Given the description of an element on the screen output the (x, y) to click on. 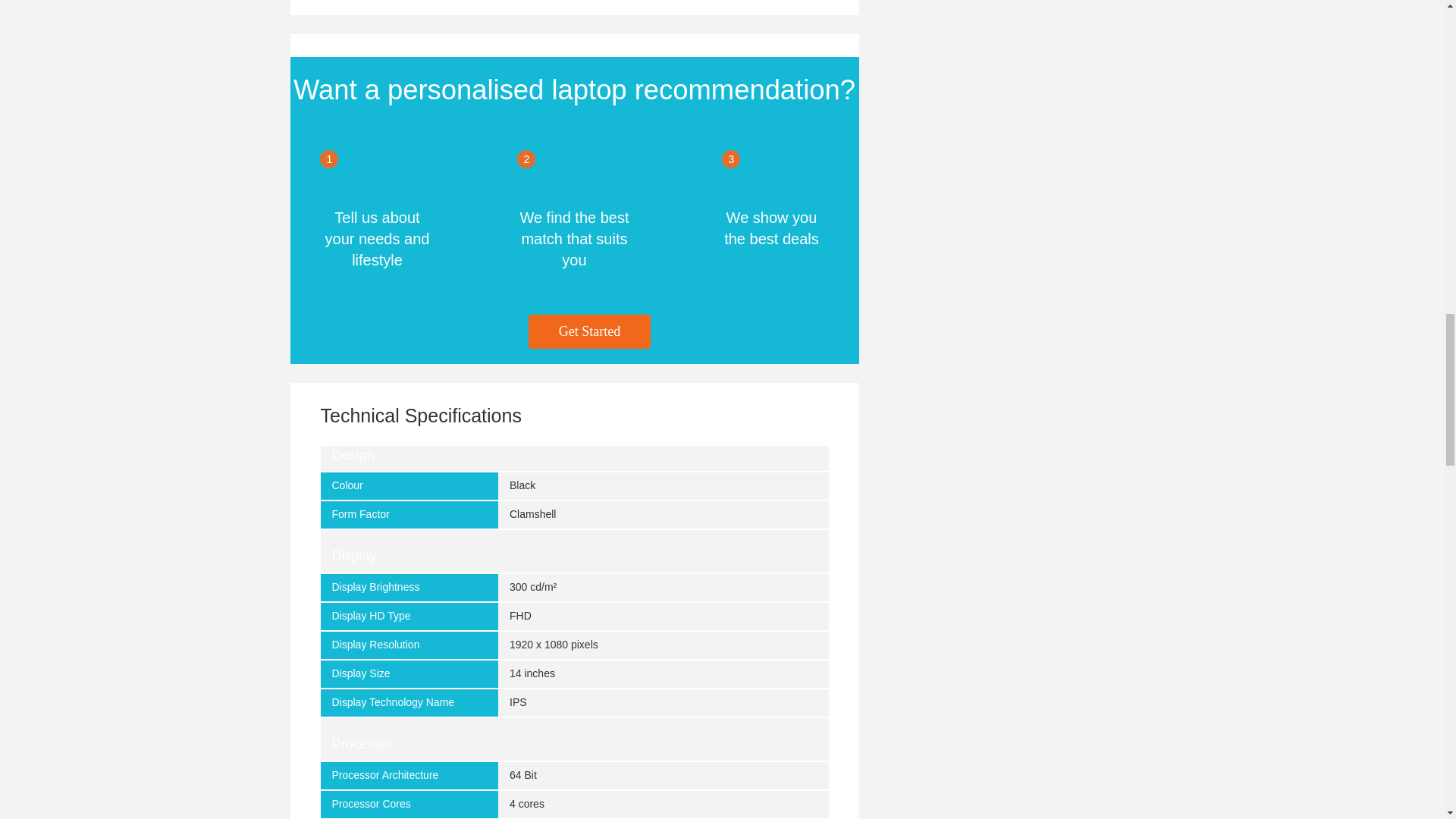
Get Started (589, 331)
